Given the description of an element on the screen output the (x, y) to click on. 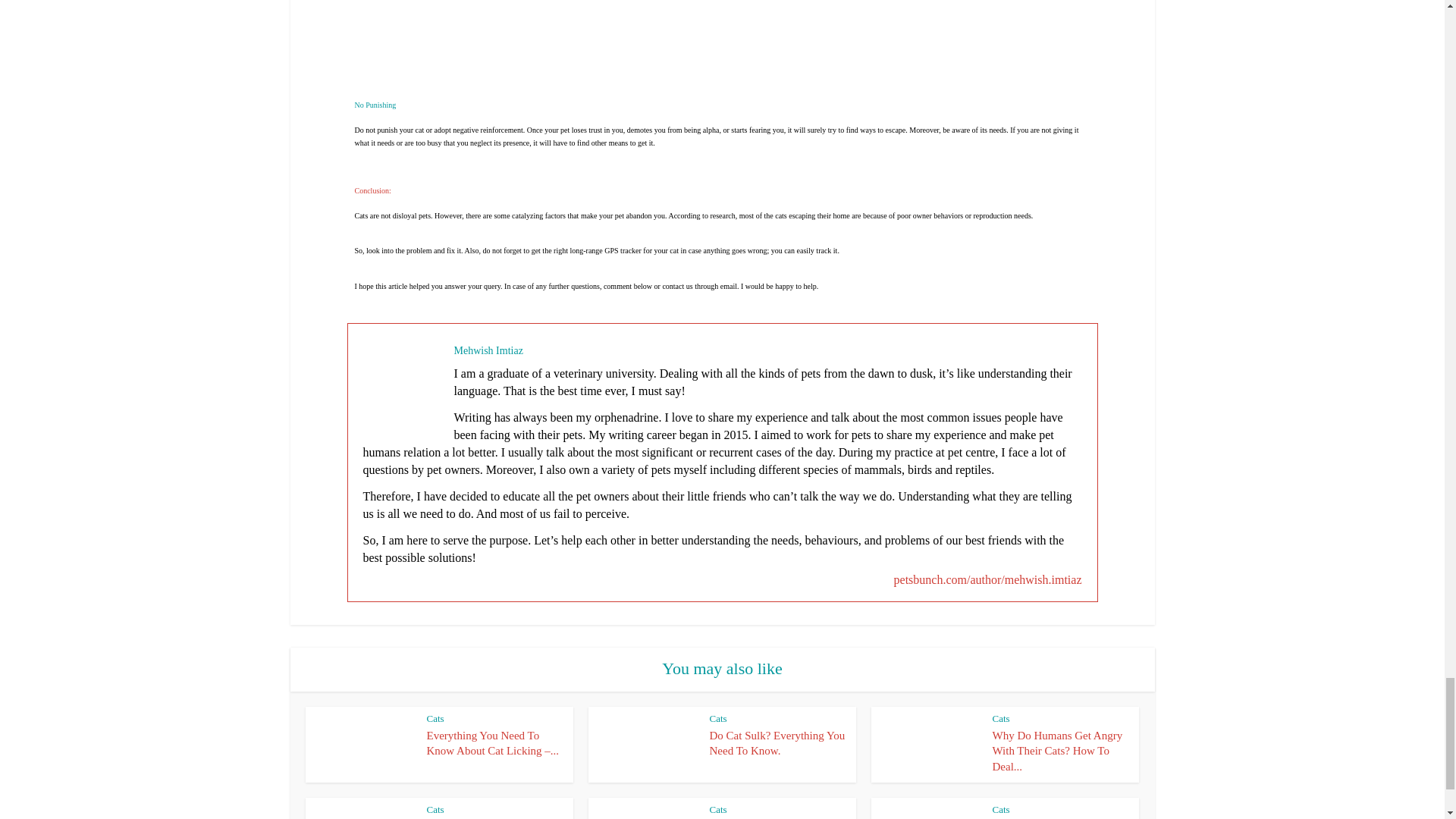
Do Cat Sulk? Everything You Need To Know. (777, 742)
